Given the description of an element on the screen output the (x, y) to click on. 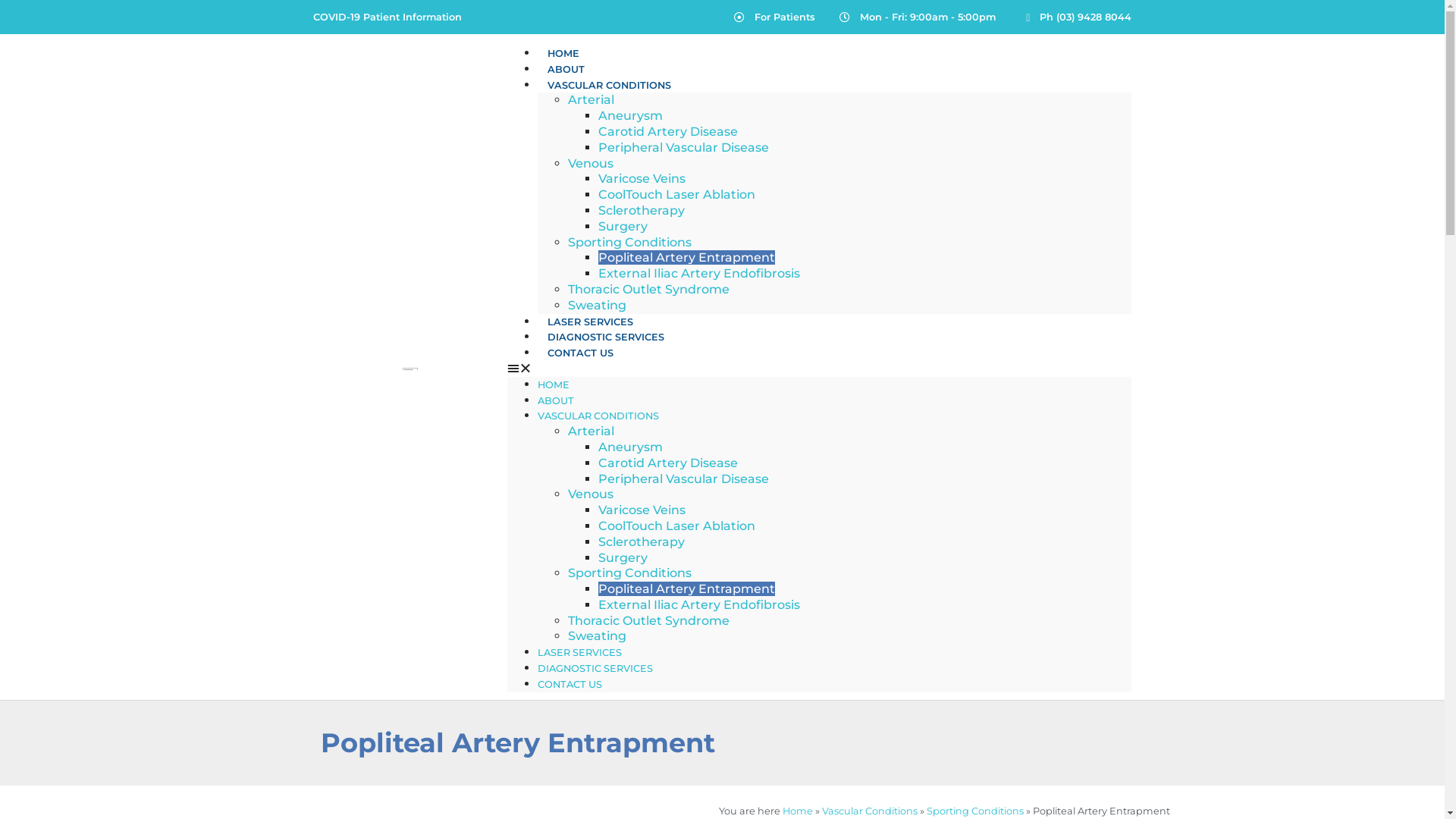
VASCULAR CONDITIONS Element type: text (597, 415)
CONTACT US Element type: text (580, 352)
Sclerotherapy Element type: text (641, 210)
Popliteal Artery Entrapment Element type: text (686, 588)
Ph (03) 9428 8044 Element type: text (1074, 16)
Varicose Veins Element type: text (641, 178)
Arterial Element type: text (590, 430)
Surgery Element type: text (622, 557)
Sporting Conditions Element type: text (629, 572)
Sporting Conditions Element type: text (629, 242)
Carotid Artery Disease Element type: text (667, 131)
Peripheral Vascular Disease Element type: text (683, 147)
HOME Element type: text (563, 53)
LASER SERVICES Element type: text (590, 321)
Sweating Element type: text (596, 635)
External Iliac Artery Endofibrosis Element type: text (699, 604)
Thoracic Outlet Syndrome Element type: text (648, 289)
Arterial Element type: text (590, 99)
Vascular Conditions Element type: text (869, 810)
Carotid Artery Disease Element type: text (667, 462)
CONTACT US Element type: text (569, 684)
CoolTouch Laser Ablation Element type: text (676, 525)
Peripheral Vascular Disease Element type: text (683, 478)
CoolTouch Laser Ablation Element type: text (676, 194)
ABOUT Element type: text (565, 69)
LASER SERVICES Element type: text (579, 652)
Sporting Conditions Element type: text (974, 810)
COVID-19 Patient Information Element type: text (422, 16)
DIAGNOSTIC SERVICES Element type: text (605, 337)
Aneurysm Element type: text (630, 115)
Surgery Element type: text (622, 226)
ABOUT Element type: text (555, 400)
VASCULAR CONDITIONS Element type: text (608, 85)
External Iliac Artery Endofibrosis Element type: text (699, 273)
Popliteal Artery Entrapment Element type: text (686, 257)
For Patients Element type: text (773, 16)
Aneurysm Element type: text (630, 446)
DIAGNOSTIC SERVICES Element type: text (594, 668)
Home Element type: text (797, 810)
Thoracic Outlet Syndrome Element type: text (648, 620)
Venous Element type: text (590, 493)
Sclerotherapy Element type: text (641, 541)
Sweating Element type: text (596, 305)
Varicose Veins Element type: text (641, 509)
Venous Element type: text (590, 163)
HOME Element type: text (553, 384)
